Given the description of an element on the screen output the (x, y) to click on. 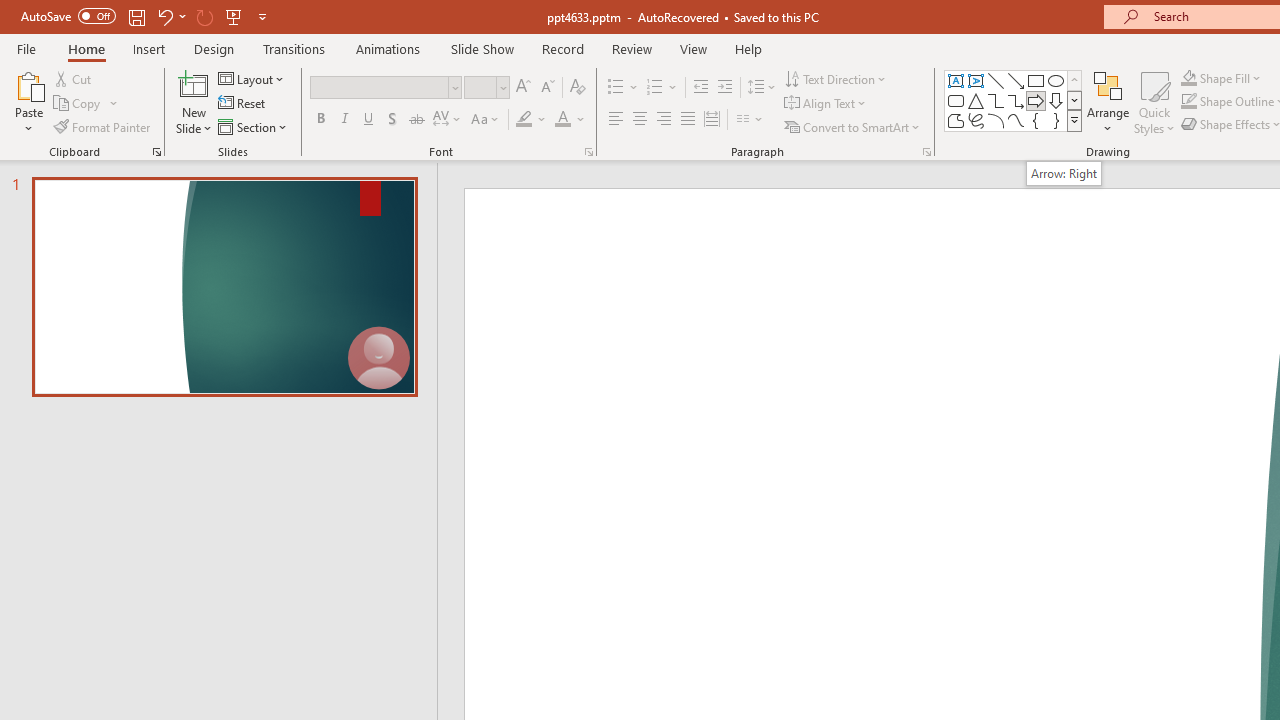
Center (639, 119)
Section (254, 126)
Line Arrow (1016, 80)
Font... (588, 151)
Justify (687, 119)
Align Text (826, 103)
Strikethrough (416, 119)
Freeform: Shape (955, 120)
Align Left (616, 119)
Vertical Text Box (975, 80)
